Given the description of an element on the screen output the (x, y) to click on. 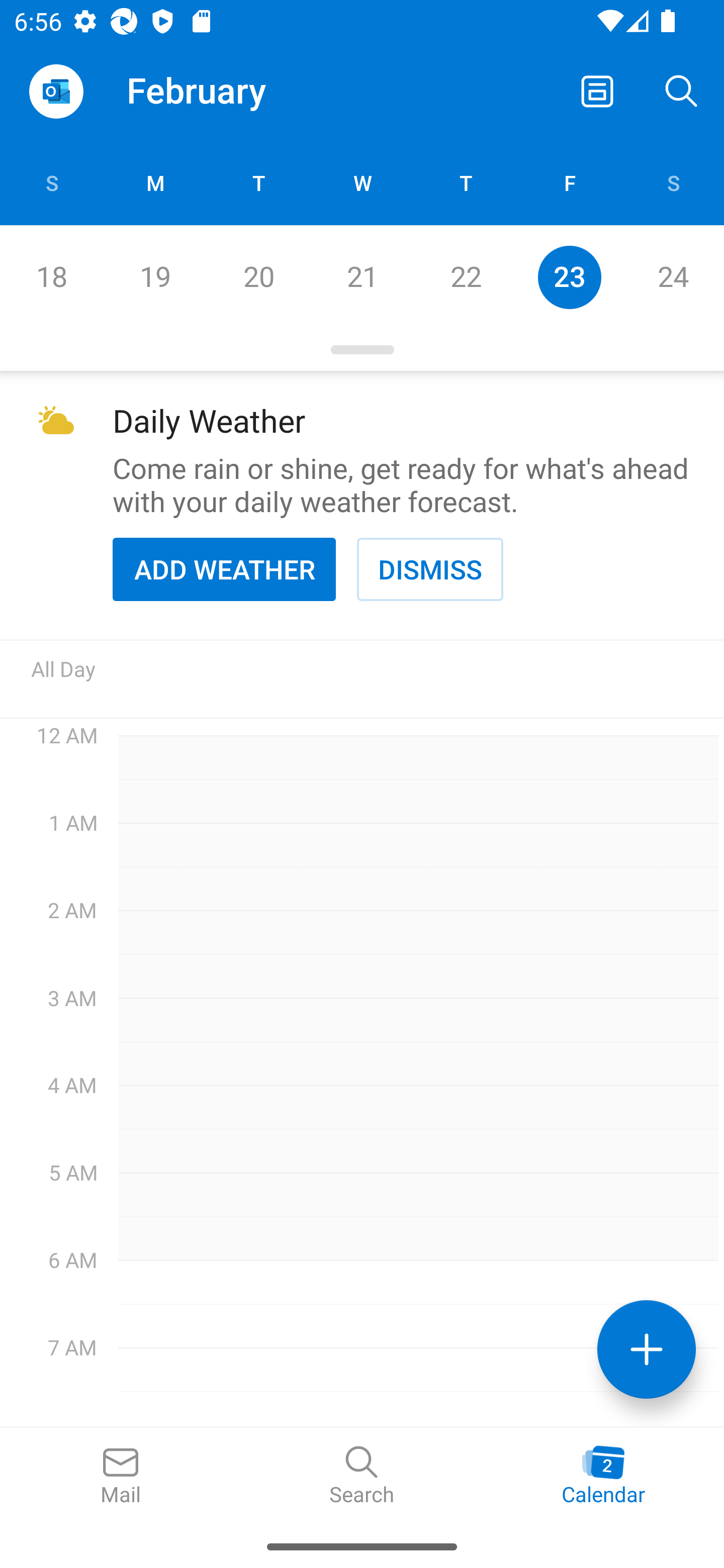
February February 2024, day picker expand (209, 90)
Switch away from Day view (597, 90)
Search (681, 90)
Open Navigation Drawer (55, 91)
18 Sunday, February 18 (51, 277)
19 Monday, February 19 (155, 277)
20 Tuesday, February 20 (258, 277)
21 Wednesday, February 21 (362, 277)
22 Thursday, February 22 (465, 277)
23 Friday, February 23, Selected (569, 277)
24 Saturday, February 24 (672, 277)
Day picker expand (362, 350)
ADD WEATHER (224, 568)
DISMISS (429, 568)
Add new event (646, 1348)
Mail (120, 1475)
Search (361, 1475)
